Given the description of an element on the screen output the (x, y) to click on. 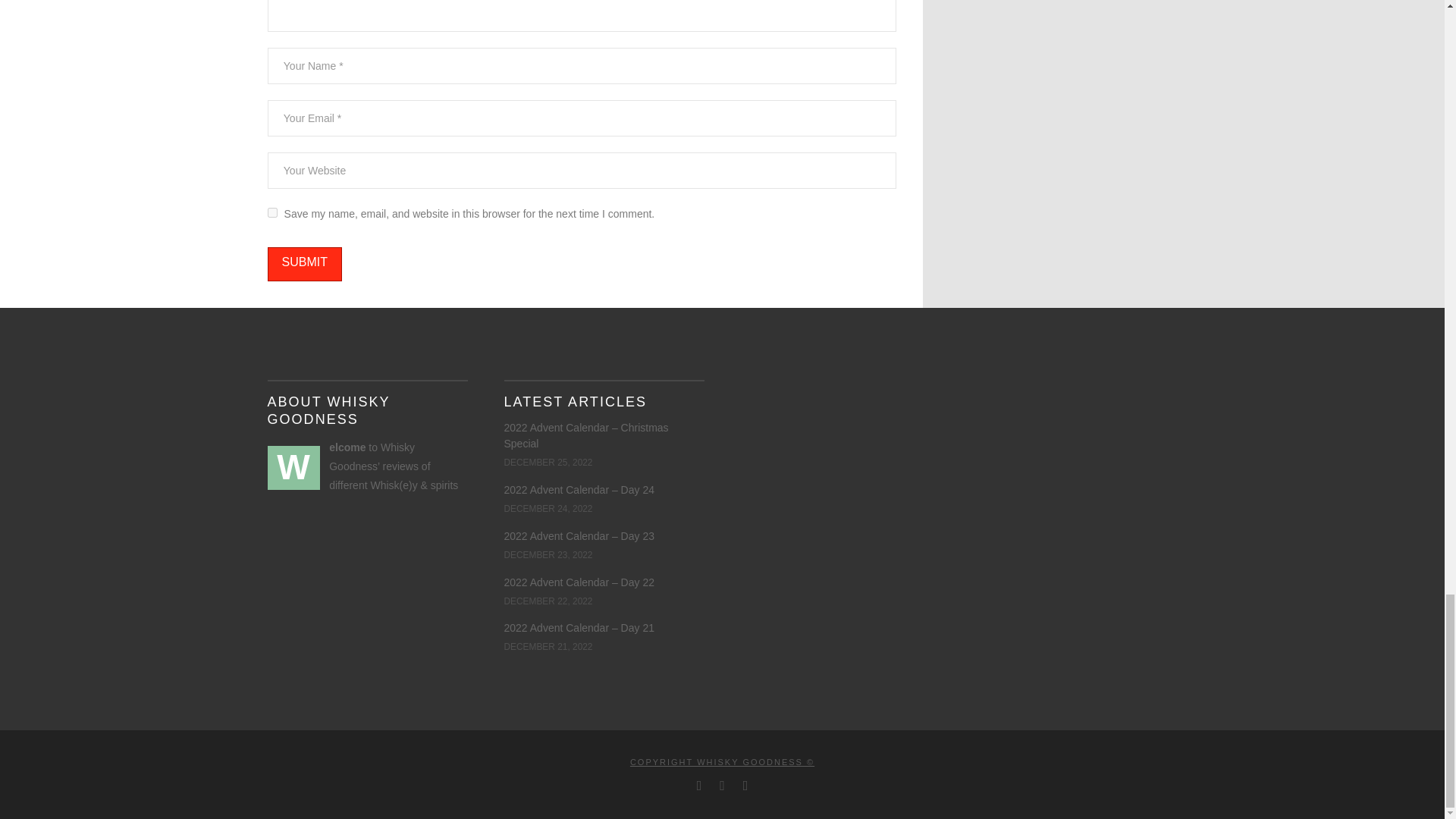
Submit (303, 264)
Facebook (699, 785)
yes (271, 212)
Submit (303, 264)
Instagram (745, 785)
